Given the description of an element on the screen output the (x, y) to click on. 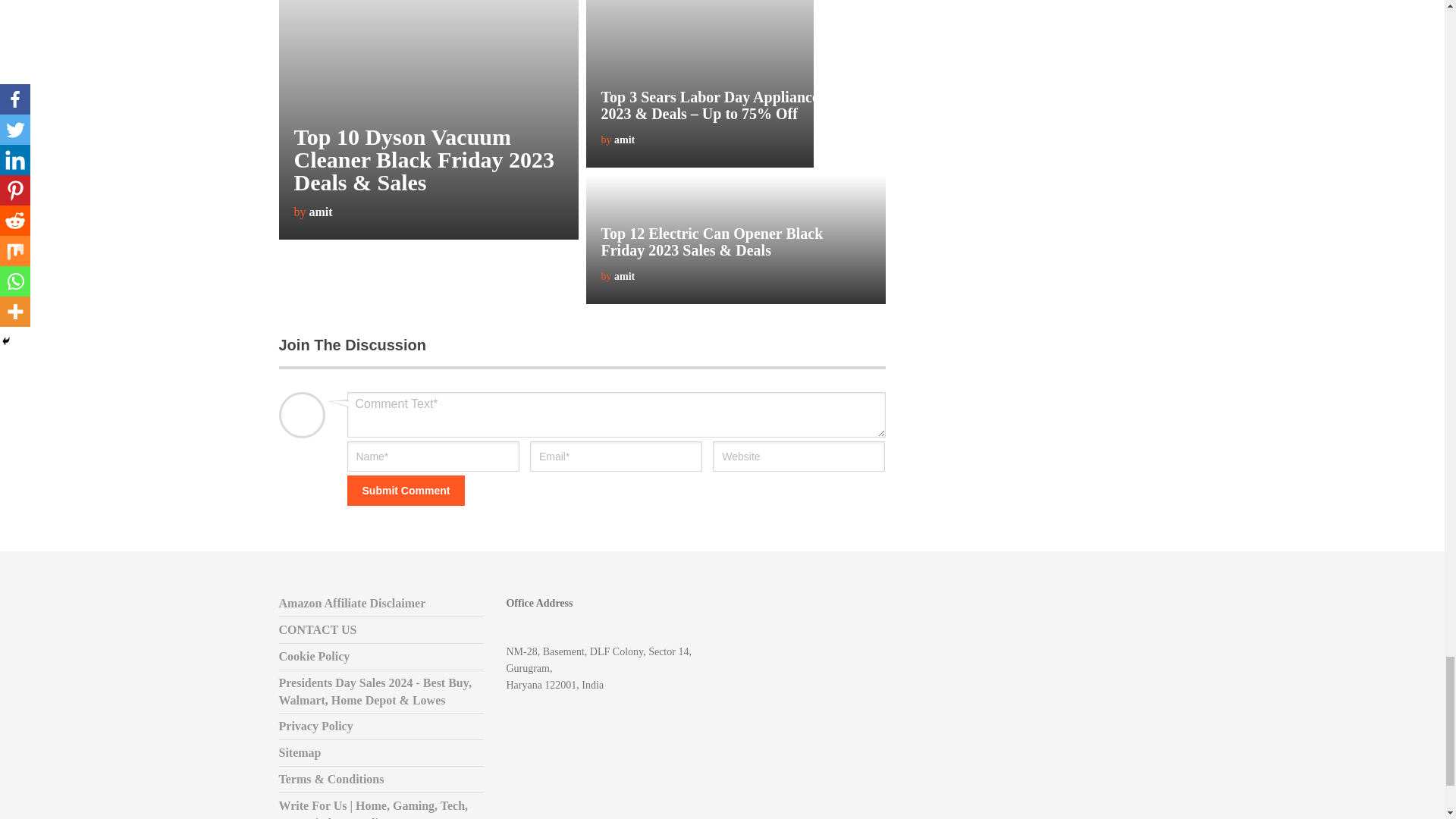
Submit Comment (406, 490)
